Given the description of an element on the screen output the (x, y) to click on. 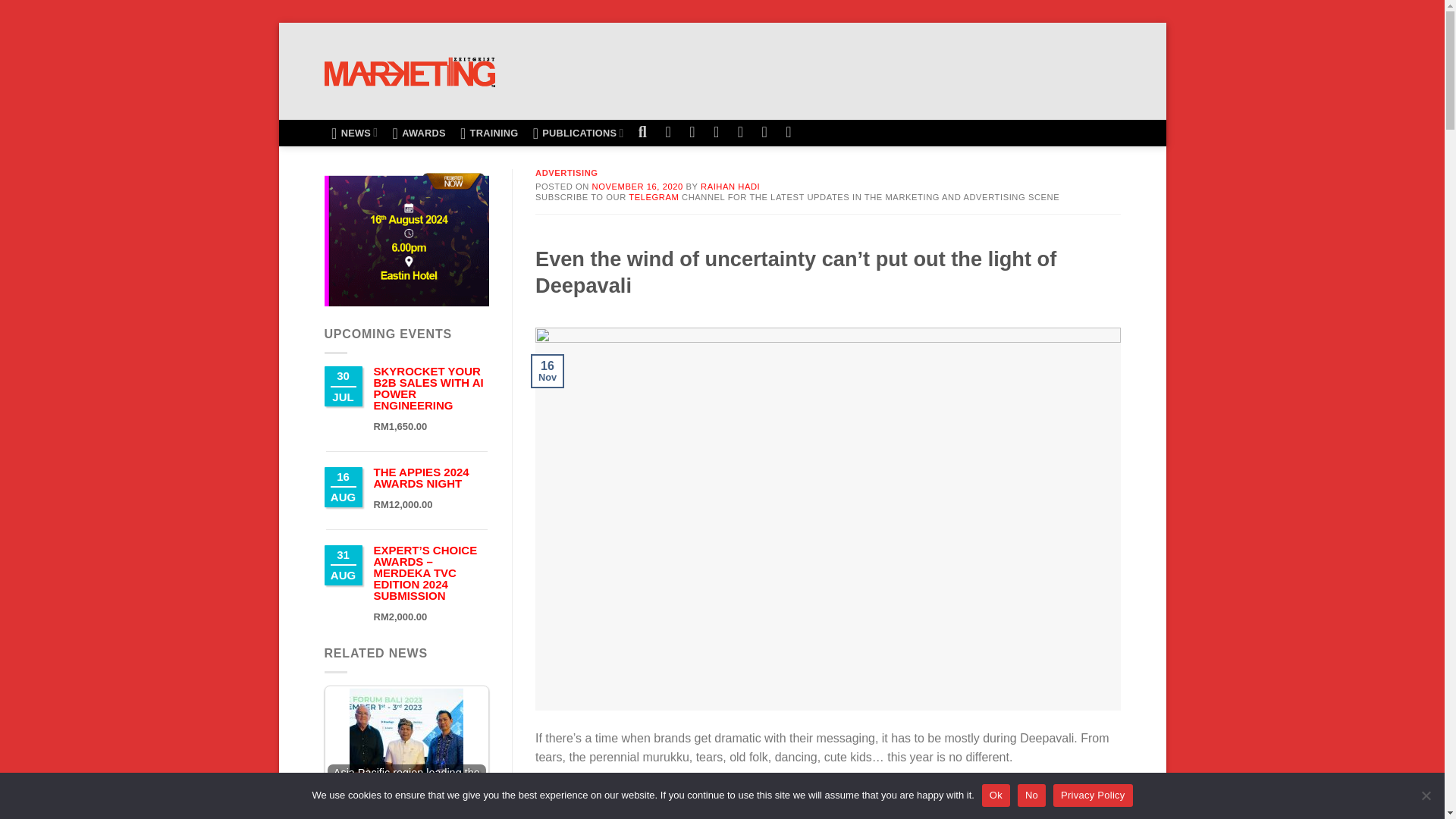
SKYROCKET YOUR B2B SALES WITH AI POWER ENGINEERING (427, 387)
AWARDS (418, 133)
PUBLICATIONS (577, 133)
THE APPIES 2024 AWARDS NIGHT (420, 477)
NEWS (354, 133)
SKYROCKET YOUR B2B SALES WITH AI POWER ENGINEERING (427, 387)
The APPIES 2024 Awards Night (420, 477)
TRAINING (488, 133)
